Given the description of an element on the screen output the (x, y) to click on. 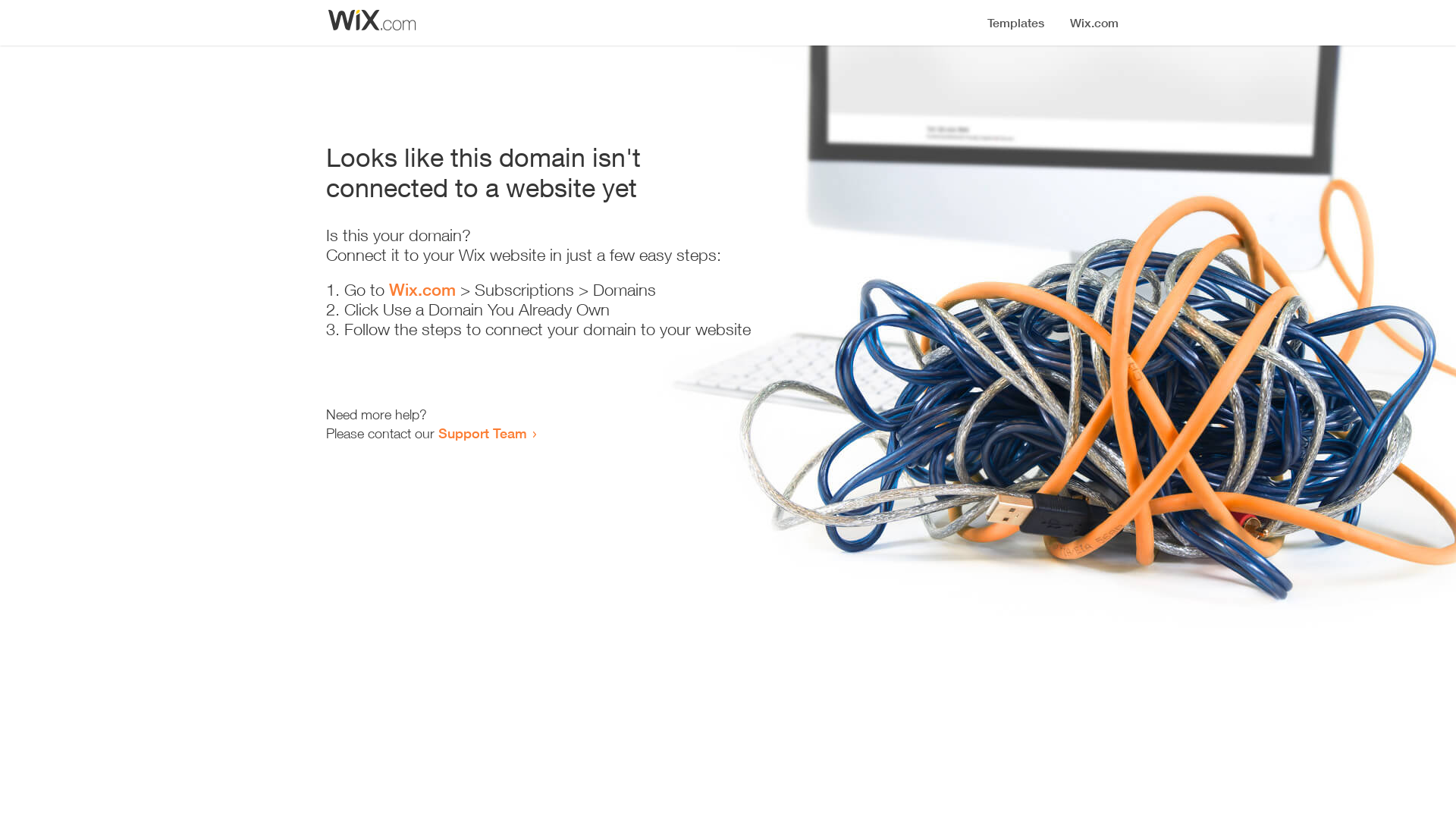
Wix.com Element type: text (422, 289)
Support Team Element type: text (482, 432)
